Given the description of an element on the screen output the (x, y) to click on. 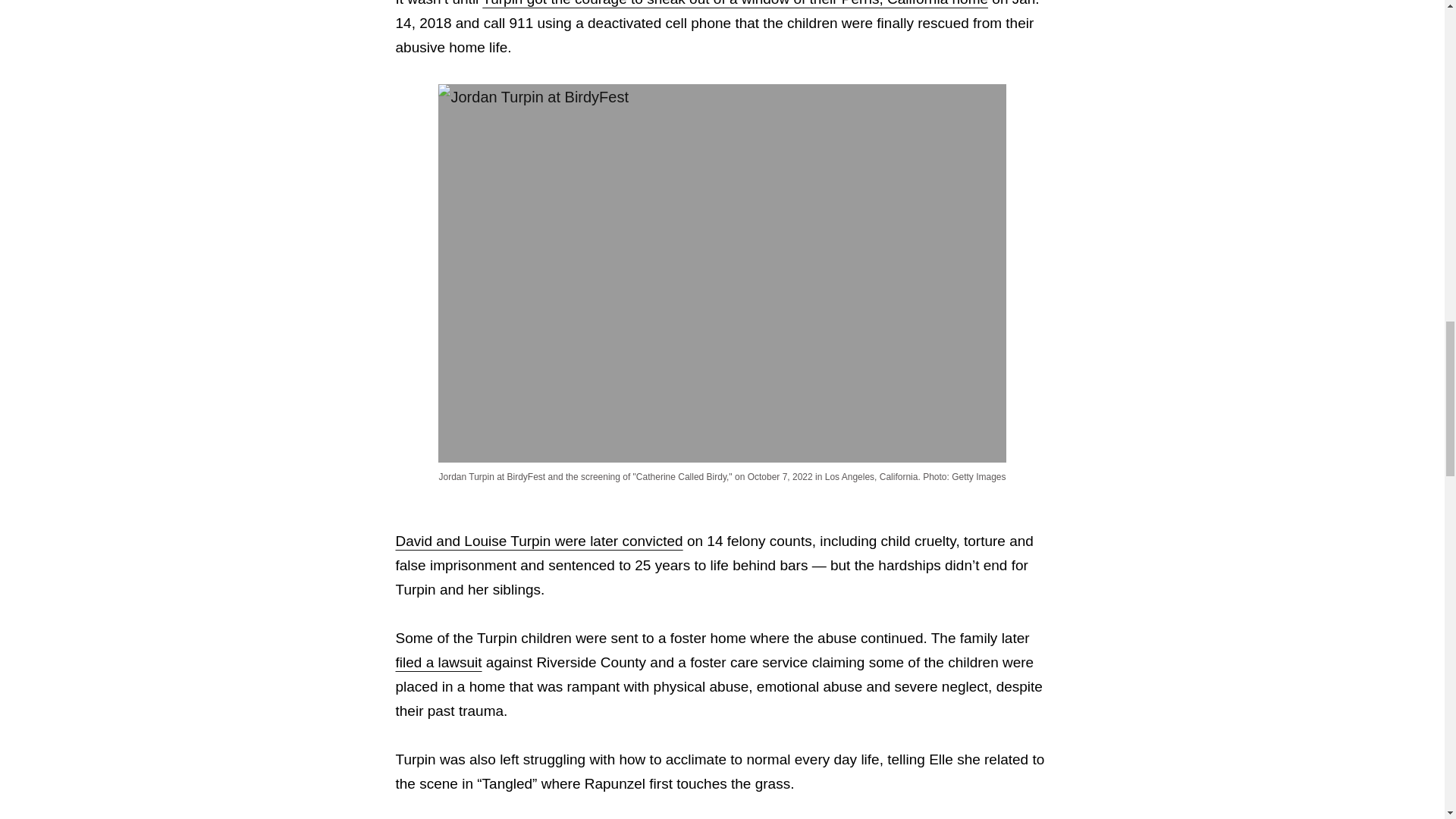
filed a lawsuit (438, 662)
David and Louise Turpin were later convicted (539, 540)
